Given the description of an element on the screen output the (x, y) to click on. 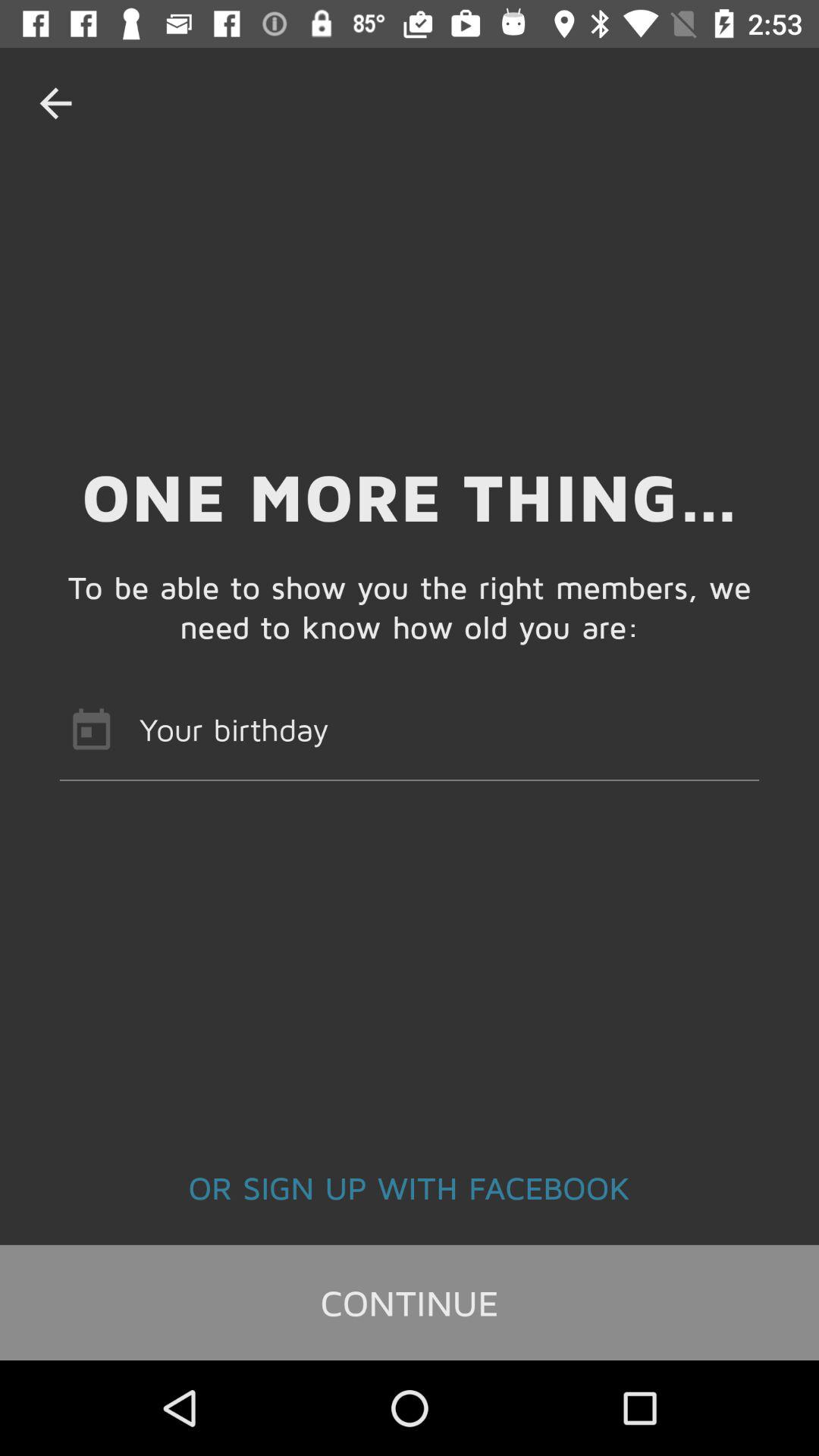
turn off item above continue item (409, 1186)
